Given the description of an element on the screen output the (x, y) to click on. 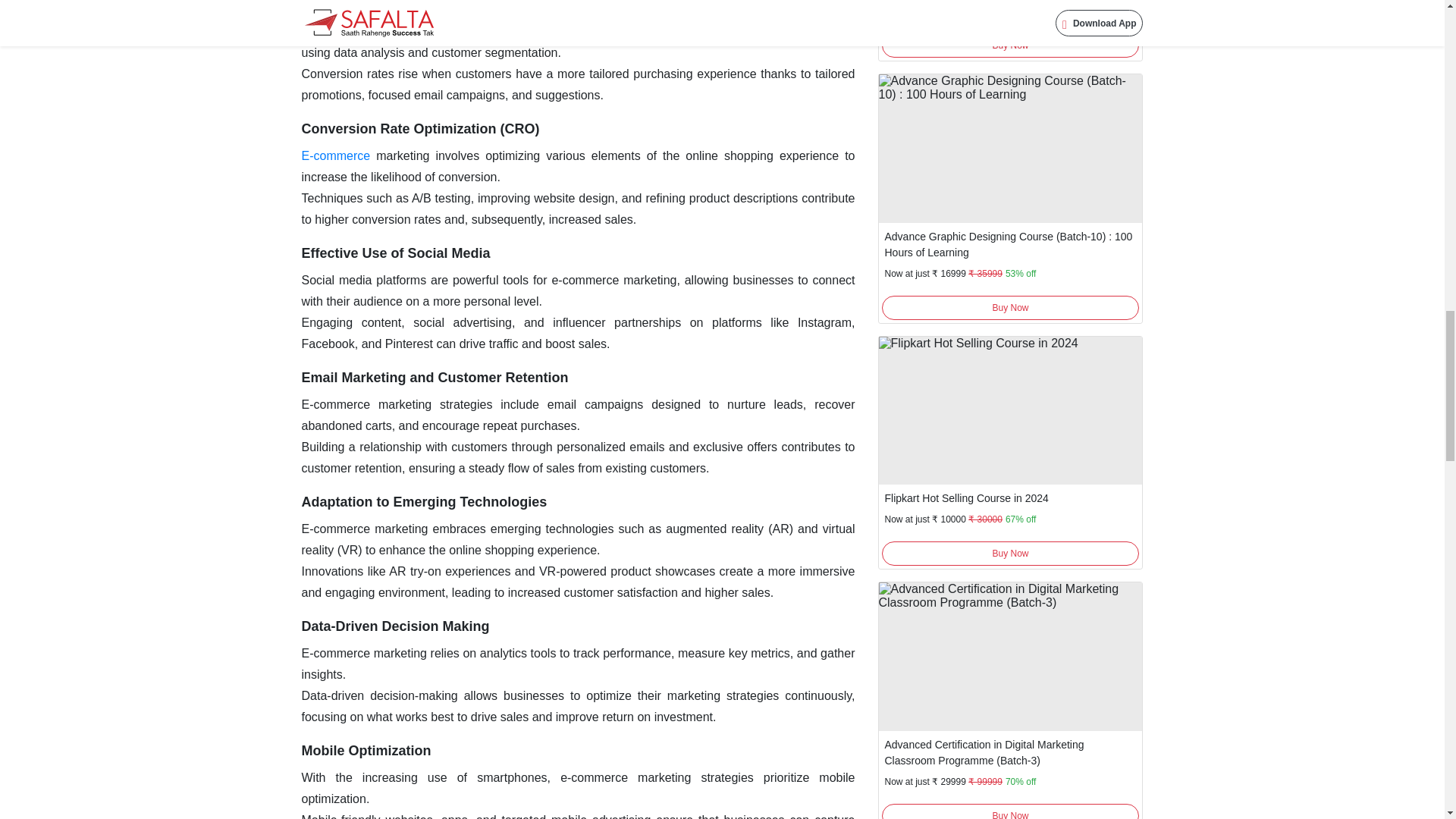
Customer segmentation and personalization (445, 6)
E-commerce (336, 155)
Data-Driven Decision Making (395, 626)
Mobile Optimization (365, 750)
Effective Use of Social Media (395, 253)
Adaptation to Emerging Technologies (424, 501)
Email Marketing and Customer Retention (435, 377)
